Given the description of an element on the screen output the (x, y) to click on. 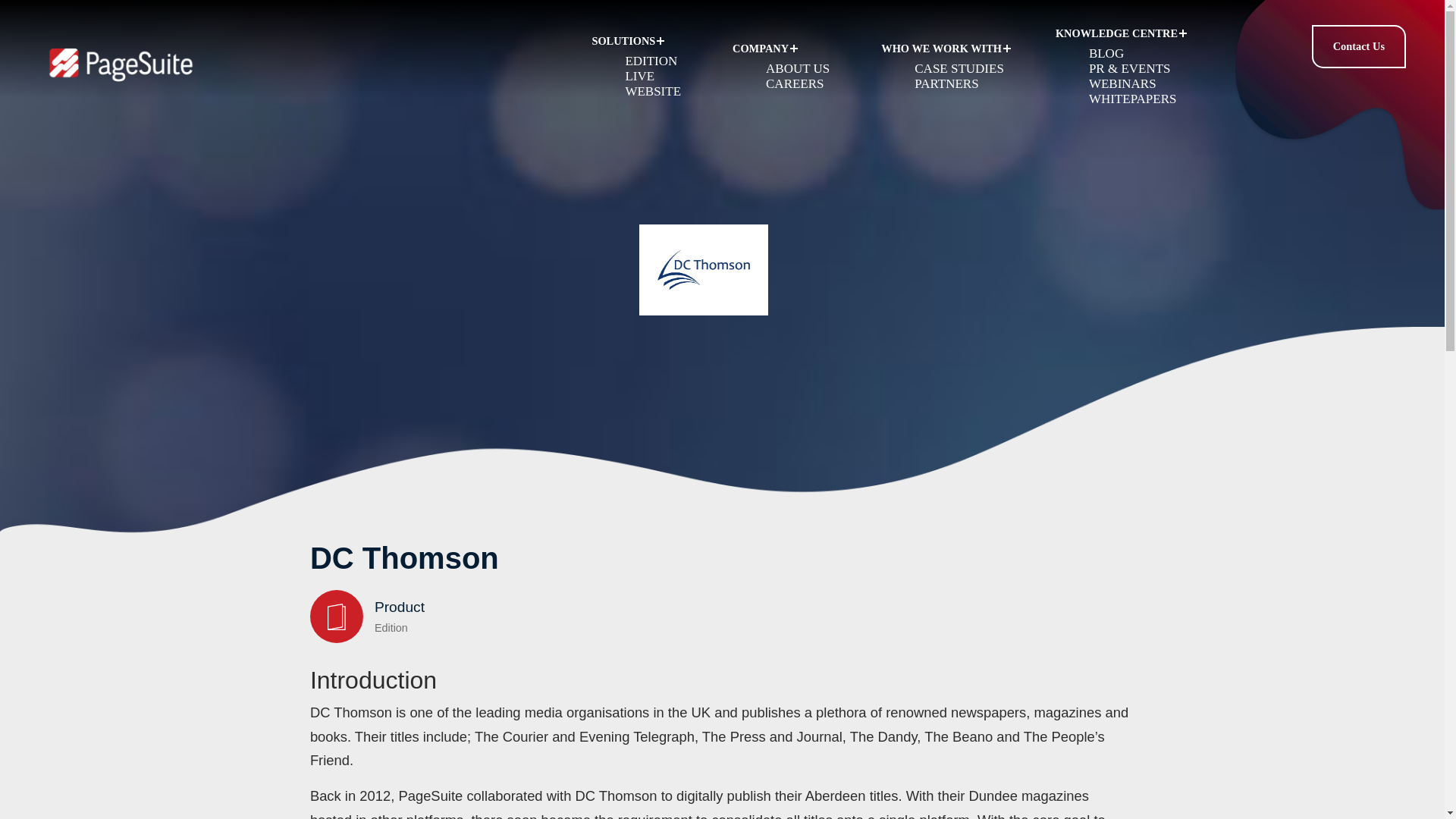
WEBSITE (652, 91)
BLOG (1106, 52)
ABOUT US (797, 68)
CASE STUDIES (959, 68)
PARTNERS (946, 83)
SOLUTIONS (640, 41)
WHO WE WORK WITH (947, 48)
EDITION (650, 60)
Contact Us (1358, 46)
LIVE (638, 75)
